Given the description of an element on the screen output the (x, y) to click on. 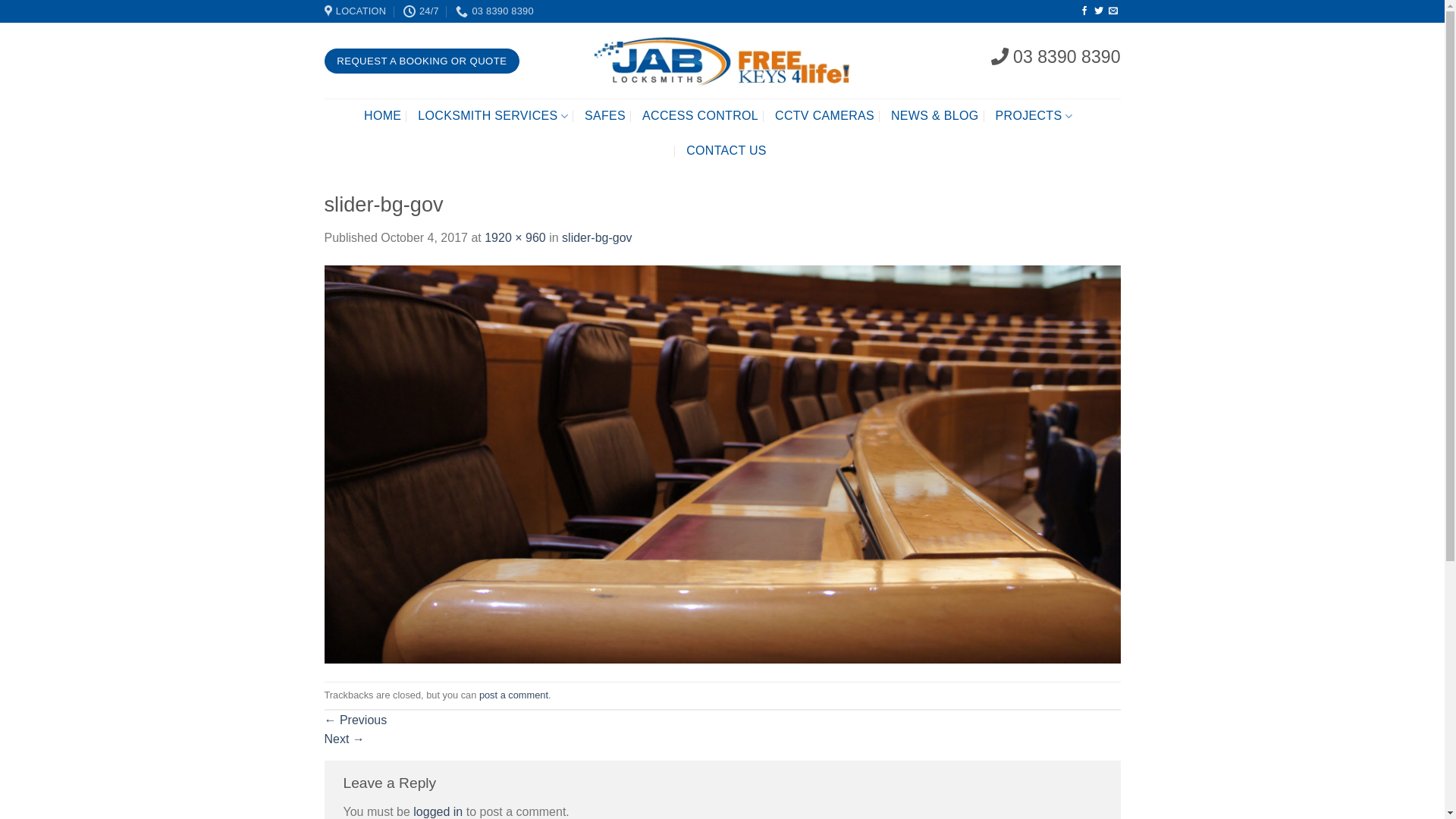
PROJECTS Element type: text (1033, 115)
SAFES Element type: text (604, 115)
CCTV CAMERAS Element type: text (824, 115)
logged in Element type: text (437, 811)
Jab Locksmiths - Professional Melbourne Locksmith Element type: hover (722, 60)
NEWS & BLOG Element type: text (935, 115)
Send us an email Element type: hover (1112, 11)
slider-bg-gov Element type: text (596, 237)
HOME Element type: text (382, 115)
LOCATION Element type: text (355, 11)
Follow on Facebook Element type: hover (1083, 11)
Follow on Twitter Element type: hover (1098, 11)
LOCKSMITH SERVICES Element type: text (492, 115)
post a comment Element type: text (513, 694)
CONTACT US Element type: text (726, 150)
REQUEST A BOOKING OR QUOTE Element type: text (422, 61)
24/7 Element type: text (421, 11)
slider-bg-gov Element type: hover (722, 463)
ACCESS CONTROL Element type: text (700, 115)
03 8390 8390 Element type: text (494, 11)
